Given the description of an element on the screen output the (x, y) to click on. 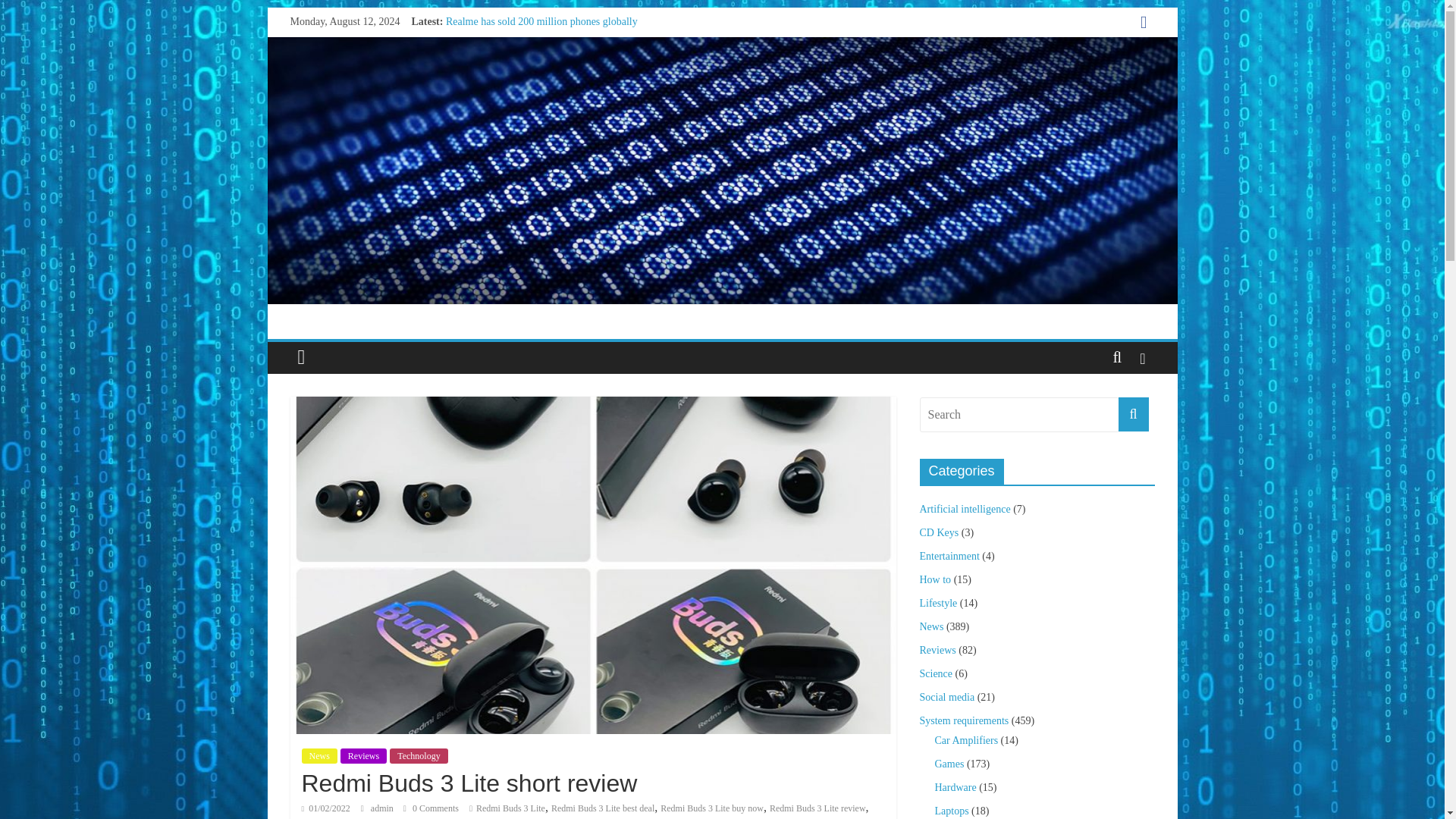
Reviews (363, 755)
Redmi Buds 3 Lite best deal (602, 808)
News (319, 755)
admin (383, 808)
Redmi Buds 3 Lite review (818, 808)
admin (383, 808)
